Given the description of an element on the screen output the (x, y) to click on. 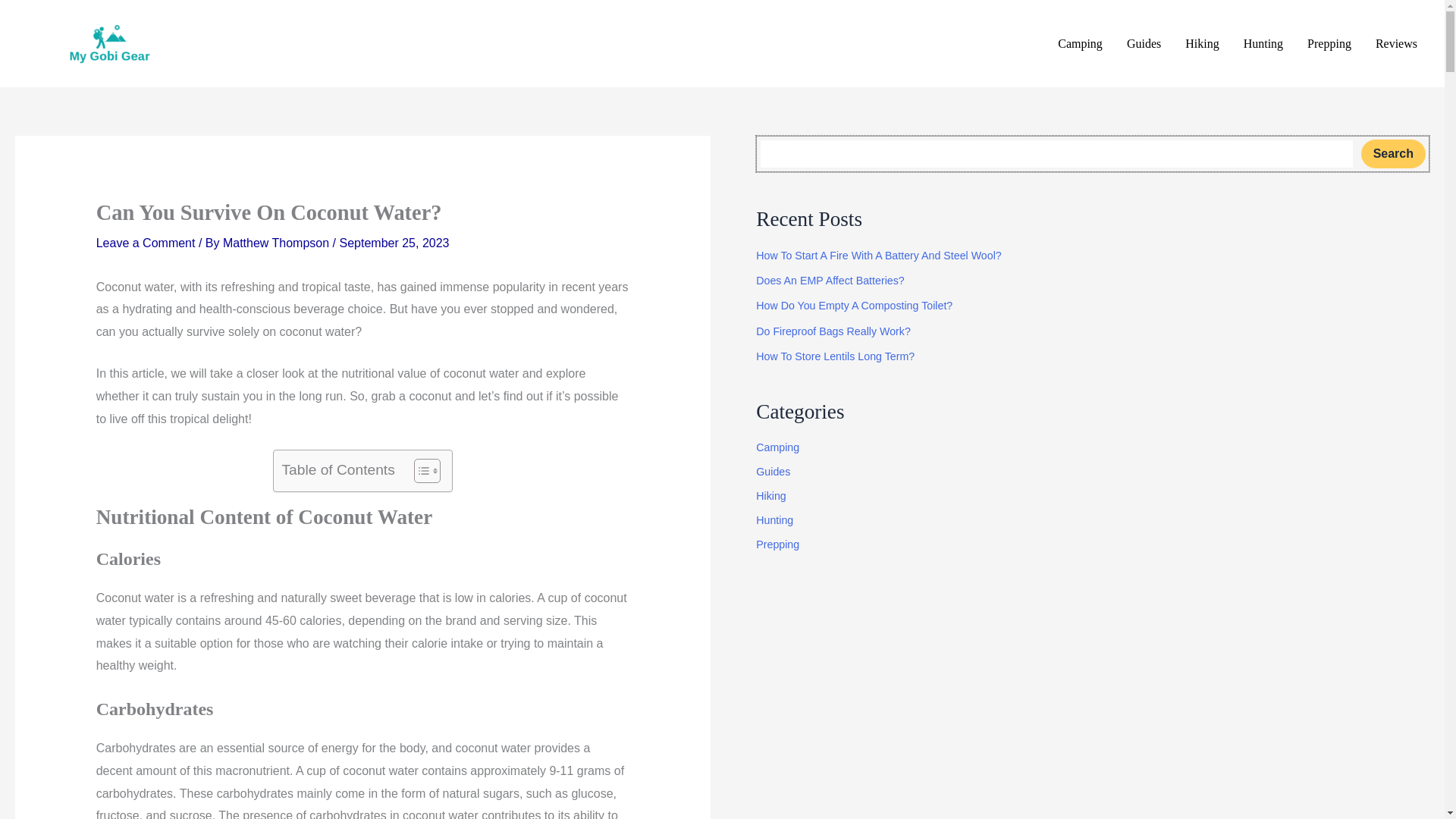
Leave a Comment (145, 242)
View all posts by Matthew Thompson (277, 242)
Matthew Thompson (277, 242)
